Given the description of an element on the screen output the (x, y) to click on. 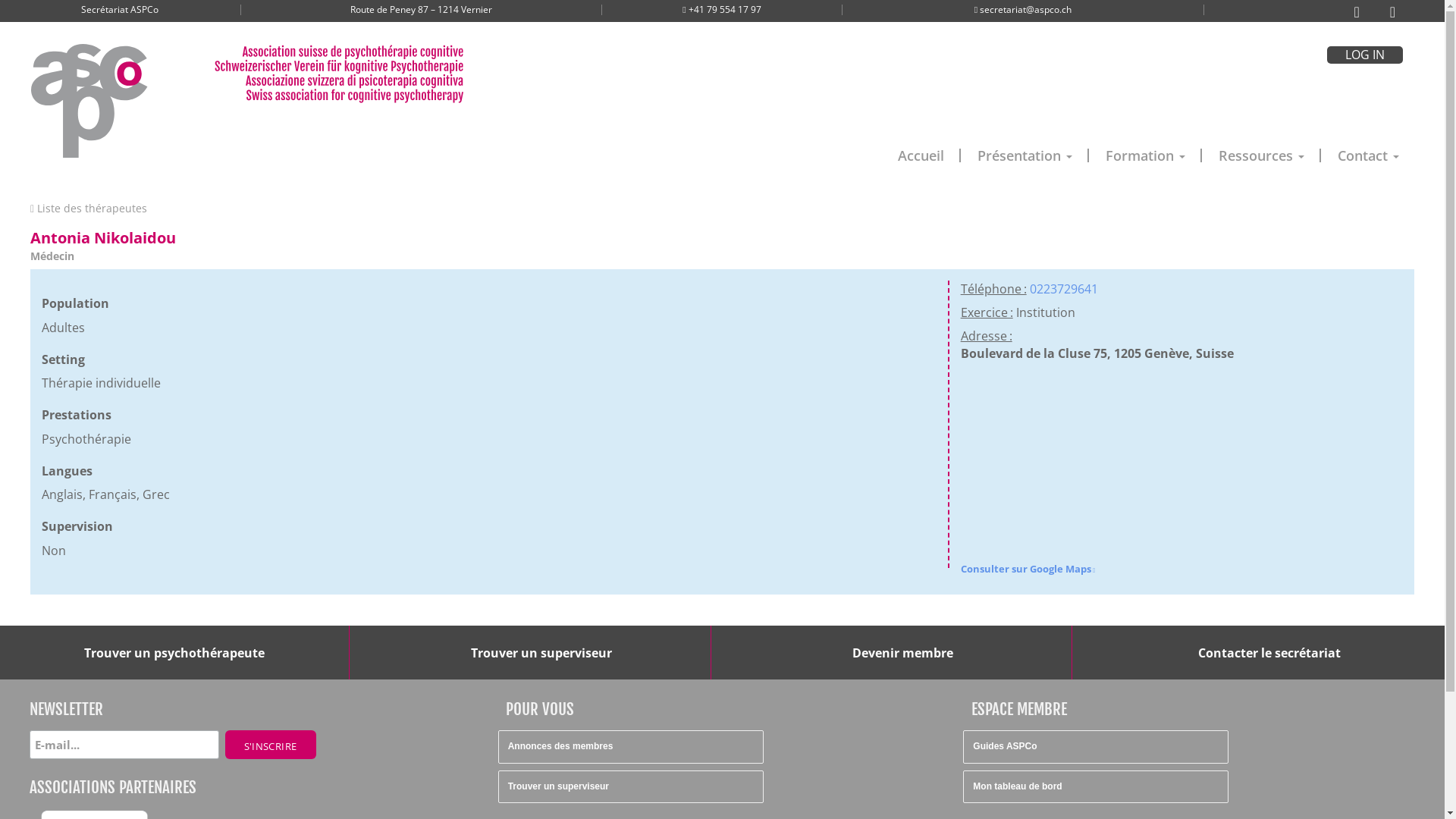
S'inscrire Element type: text (269, 744)
LOG IN Element type: text (1364, 54)
Trouver un superviseur Element type: text (540, 652)
Annonces des membres Element type: text (630, 746)
Contact Element type: text (1368, 155)
Trouver un superviseur Element type: text (630, 786)
Consulter sur Google Maps Element type: text (1027, 568)
Formation Element type: text (1144, 155)
Mon tableau de bord Element type: text (1095, 786)
Ressources Element type: text (1261, 155)
secretariat@aspco.ch Element type: text (1024, 9)
Devenir membre Element type: text (902, 652)
Accueil Element type: text (920, 155)
0223729641 Element type: text (1063, 288)
Guides ASPCo Element type: text (1095, 746)
